Given the description of an element on the screen output the (x, y) to click on. 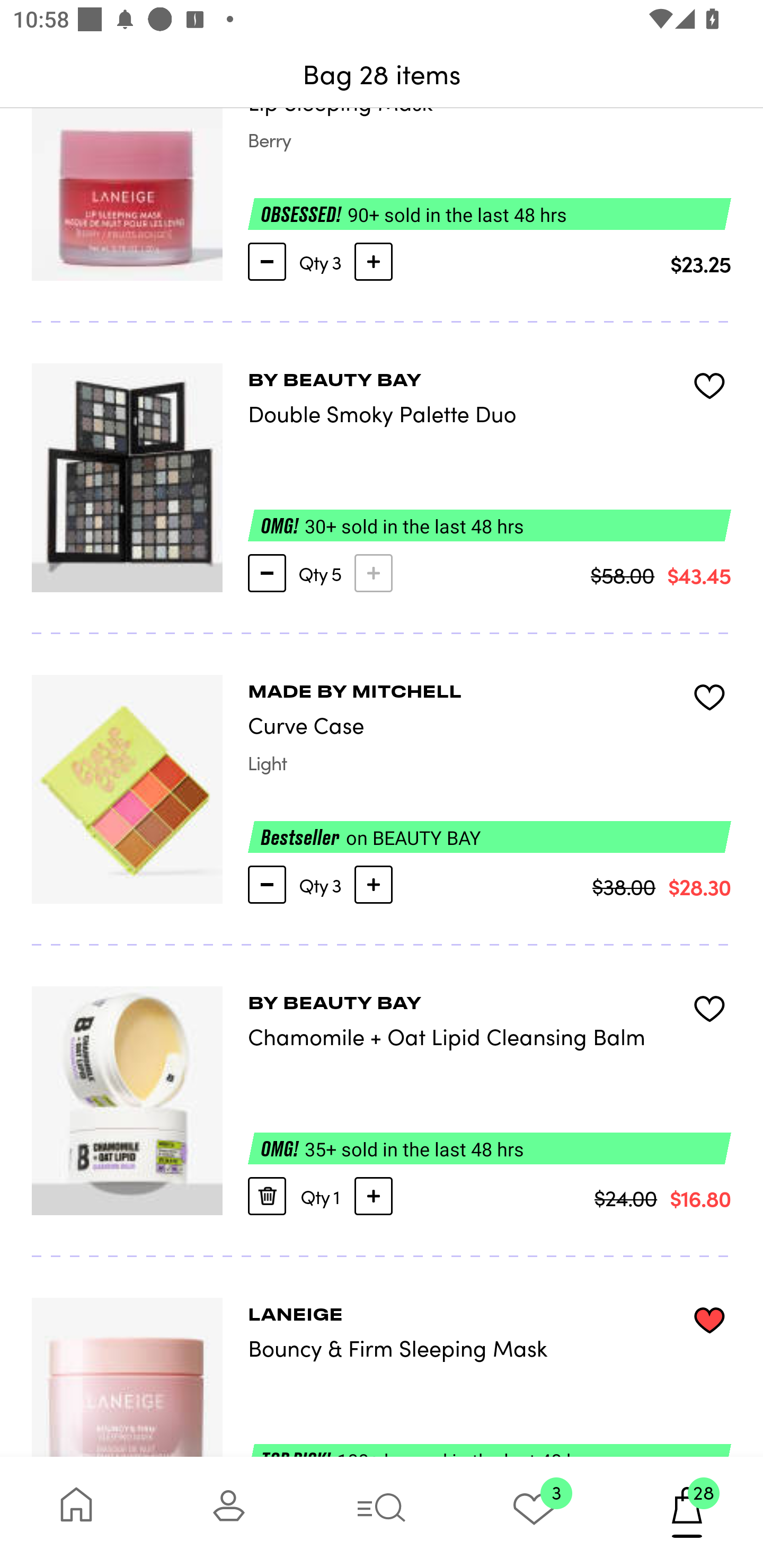
3 (533, 1512)
28 (686, 1512)
